Given the description of an element on the screen output the (x, y) to click on. 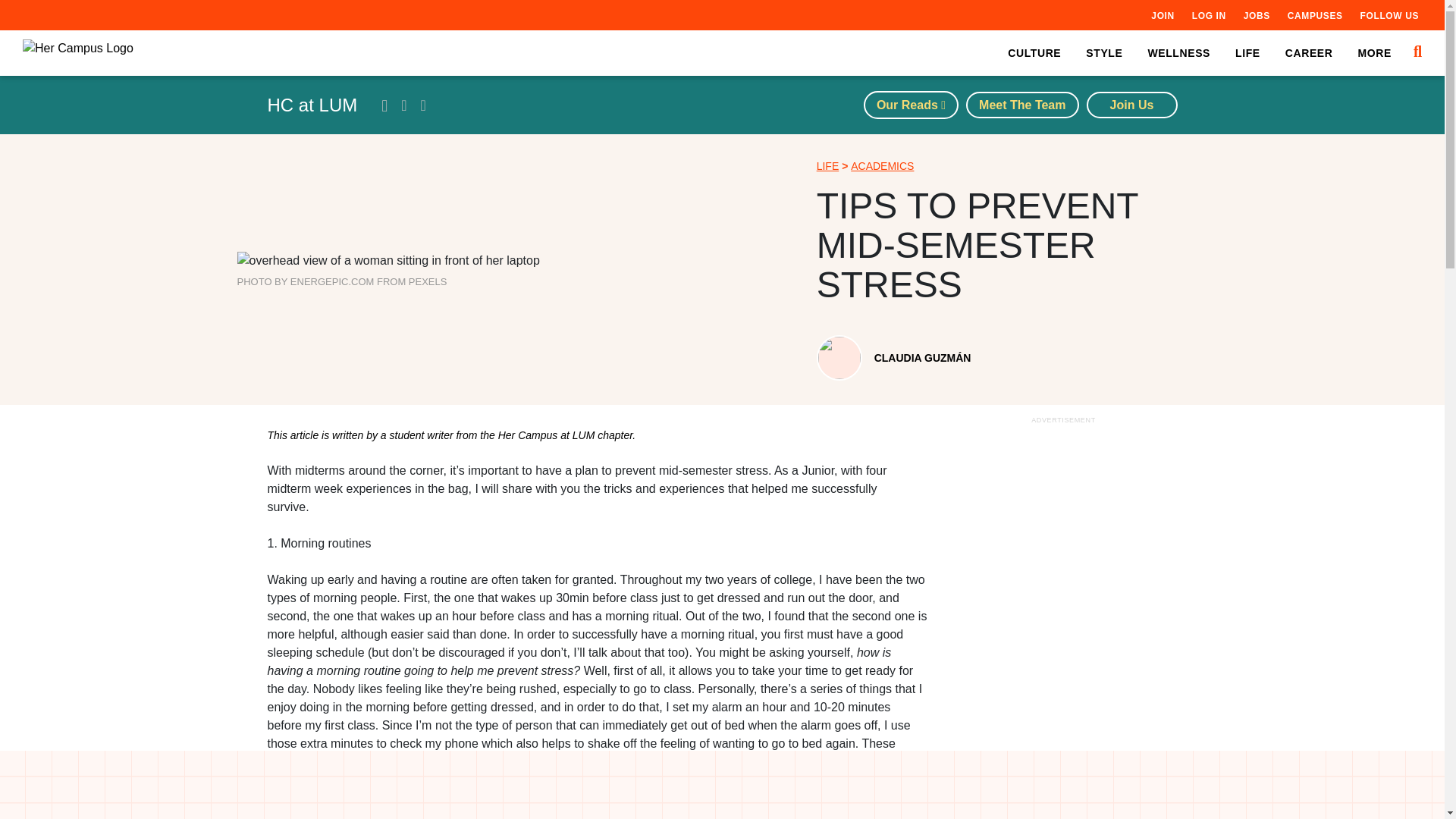
Tips to Prevent Mid-Semester Stress 1 (386, 260)
JOBS (1256, 15)
LOG IN (1208, 15)
CAMPUSES (1314, 15)
JOIN (1162, 15)
